Given the description of an element on the screen output the (x, y) to click on. 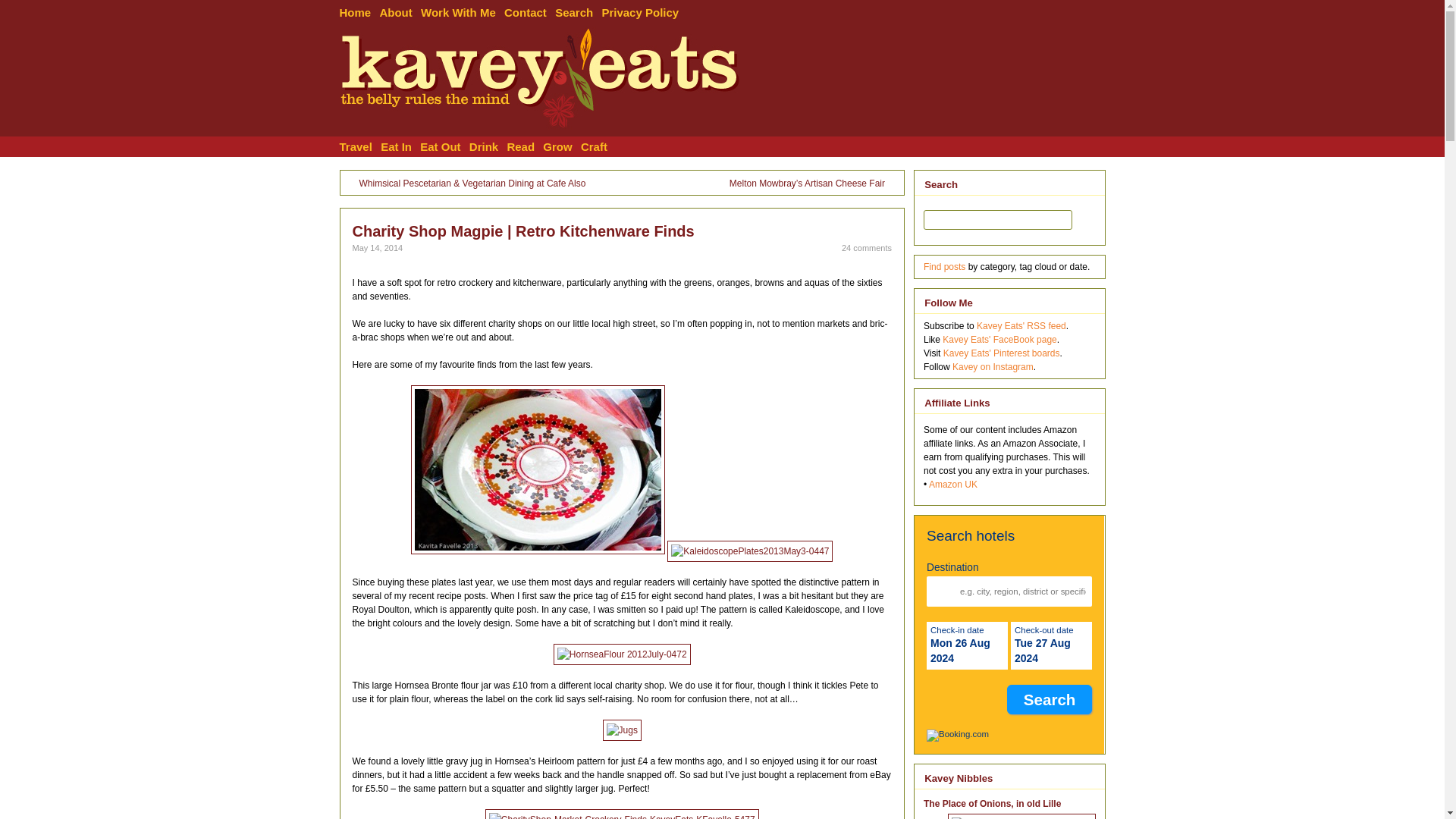
About (399, 11)
HornseaFlour 2012July-0472 (621, 653)
Search (577, 11)
Privacy Policy (644, 11)
Home (359, 11)
Read (524, 146)
Travel (360, 146)
Jugs (622, 729)
KaleidoscopePlates2013May3-0447 (749, 550)
KaleidoscopePlates2013May3-0445 (537, 469)
